Given the description of an element on the screen output the (x, y) to click on. 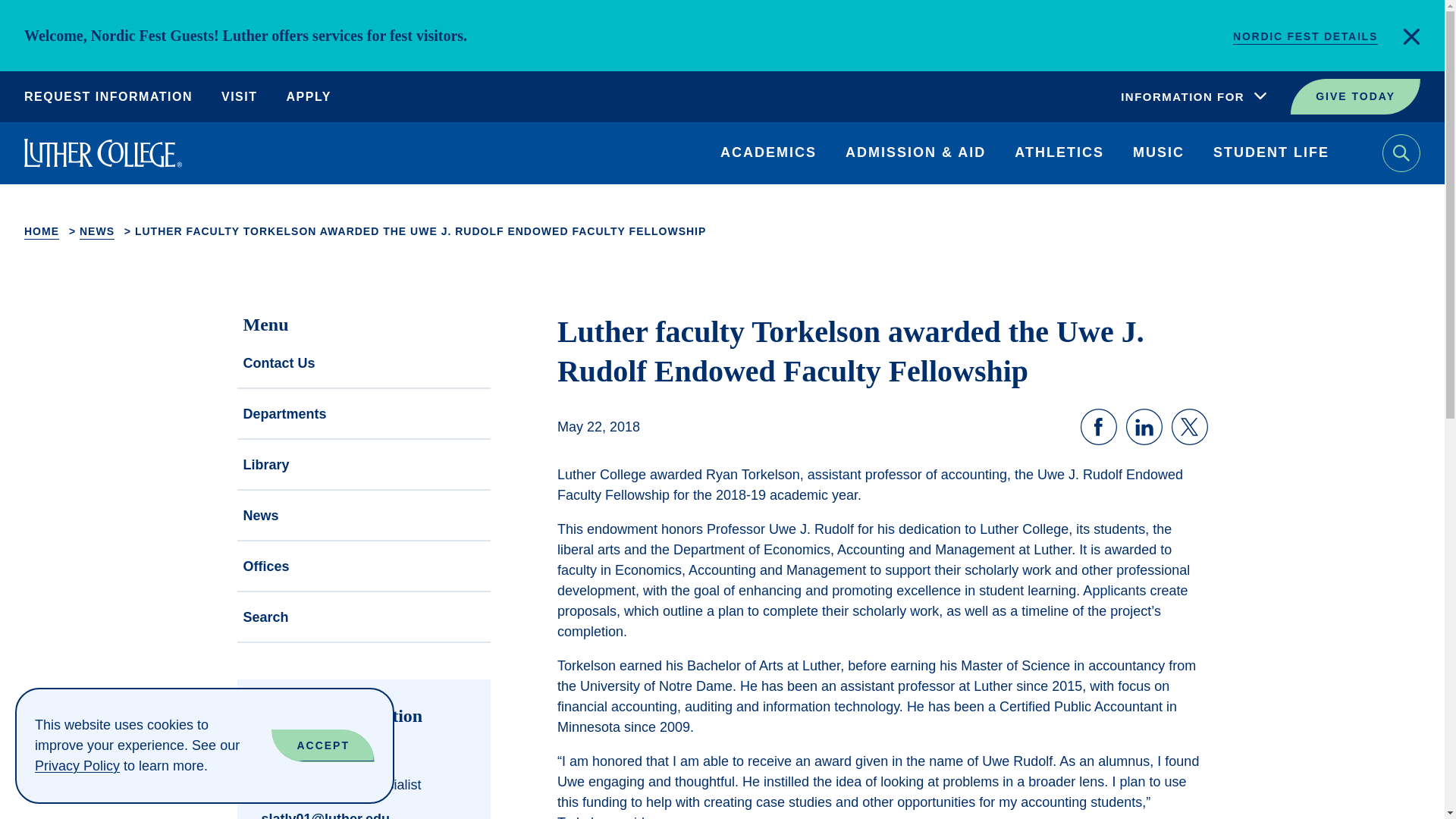
ATHLETICS (1058, 153)
Luther College (103, 152)
Close (1411, 36)
APPLY (308, 98)
ACADEMICS (768, 153)
INFORMATION FOR (1193, 96)
Share on LinkedIn (1143, 426)
GIVE TODAY (1355, 96)
Search (1401, 152)
HOME (41, 231)
Share on X (1188, 426)
Share on Facebook (1098, 426)
REQUEST INFORMATION (108, 98)
VISIT (239, 98)
STUDENT LIFE (1270, 153)
